Given the description of an element on the screen output the (x, y) to click on. 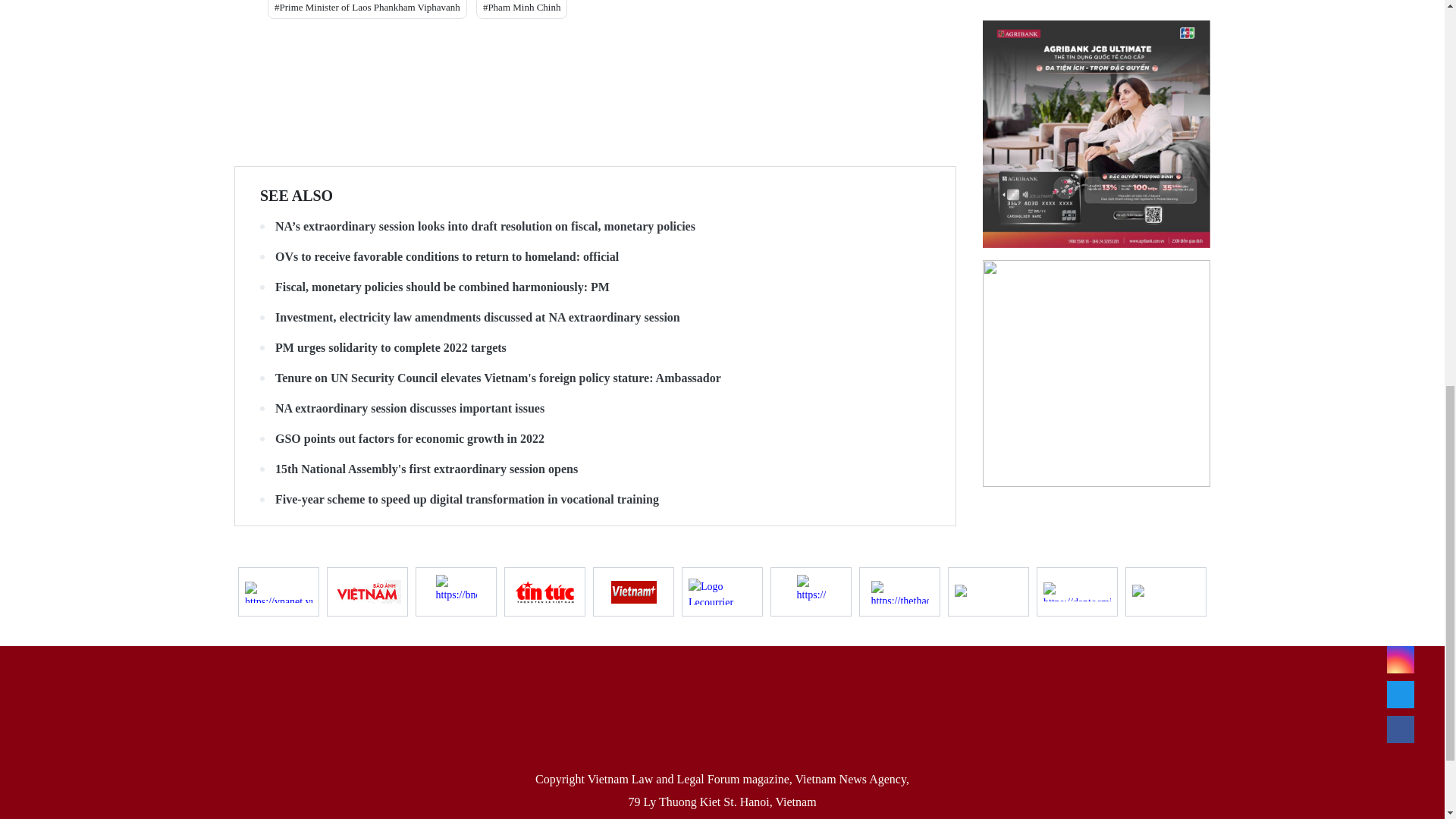
NA extraordinary session discusses important issues (595, 408)
PM urges solidarity to complete 2022 targets (595, 347)
GSO points out factors for economic growth in 2022 (595, 438)
SEE ALSO (296, 195)
Pham Minh Chinh (521, 9)
Prime Minister of Laos Phankham Viphavanh (367, 9)
